Given the description of an element on the screen output the (x, y) to click on. 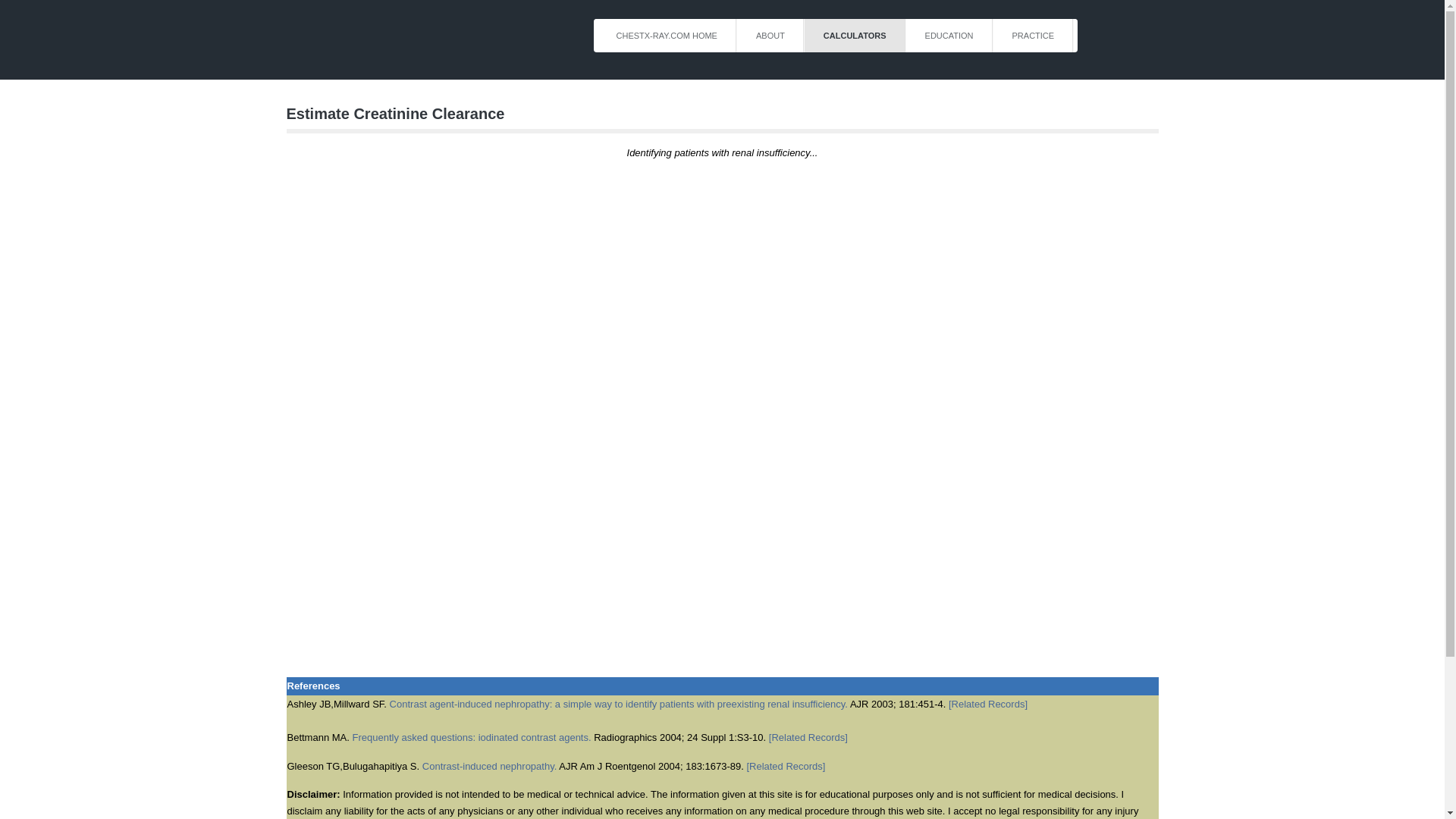
CALCULATORS (855, 35)
ABOUT (770, 35)
CHESTX-RAY.COM HOME (666, 35)
PRACTICE (1033, 35)
EDUCATION (948, 35)
